Given the description of an element on the screen output the (x, y) to click on. 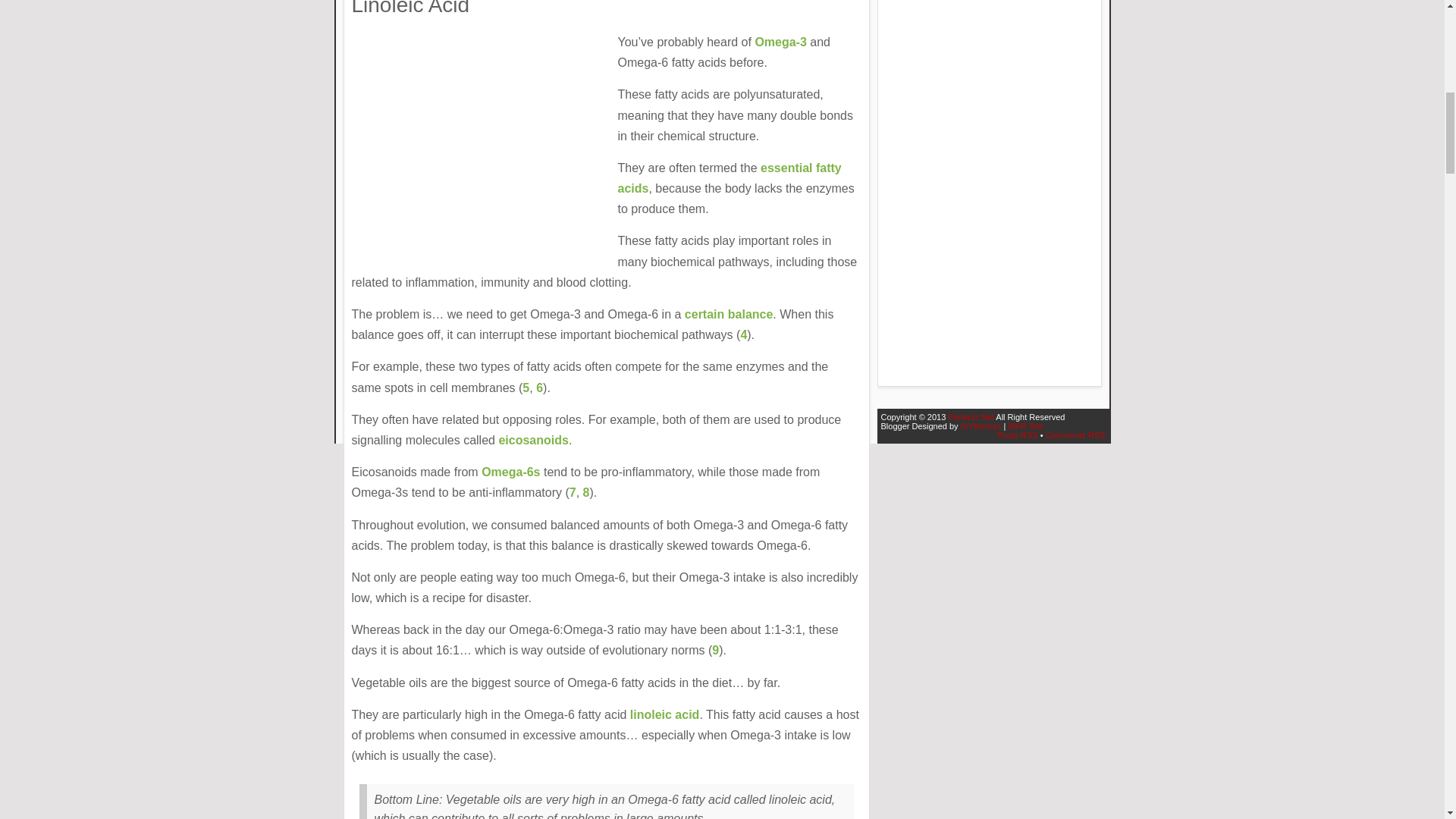
7 (572, 492)
Advertisement (989, 187)
eicosanoids (532, 440)
linoleic acid (665, 714)
9 (715, 649)
4 (742, 334)
essential fatty acids (729, 177)
8 (586, 492)
Omega-3 (780, 42)
certain balance (728, 314)
Omega-6s (510, 472)
5 (525, 387)
6 (539, 387)
Post RSS (1016, 434)
Comments RSS (1075, 434)
